Given the description of an element on the screen output the (x, y) to click on. 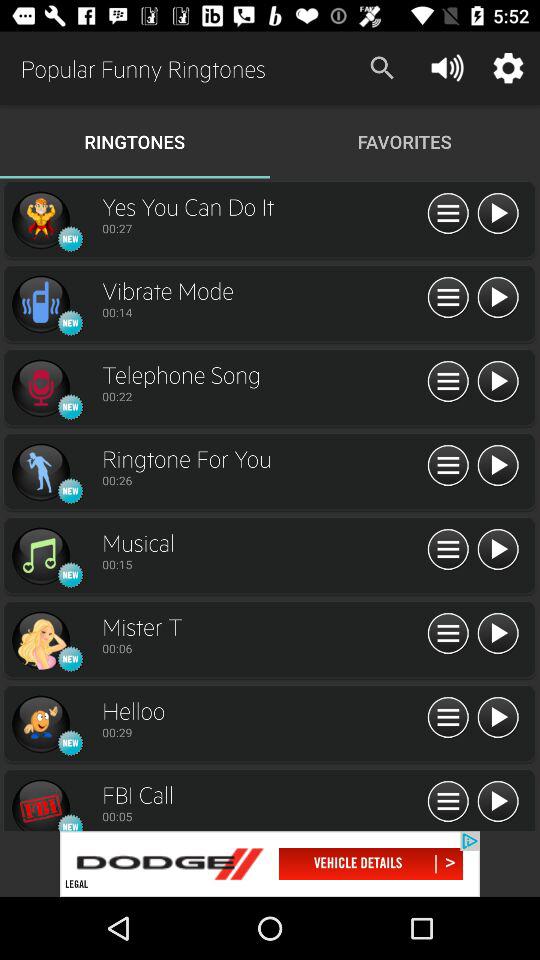
play song (497, 633)
